Given the description of an element on the screen output the (x, y) to click on. 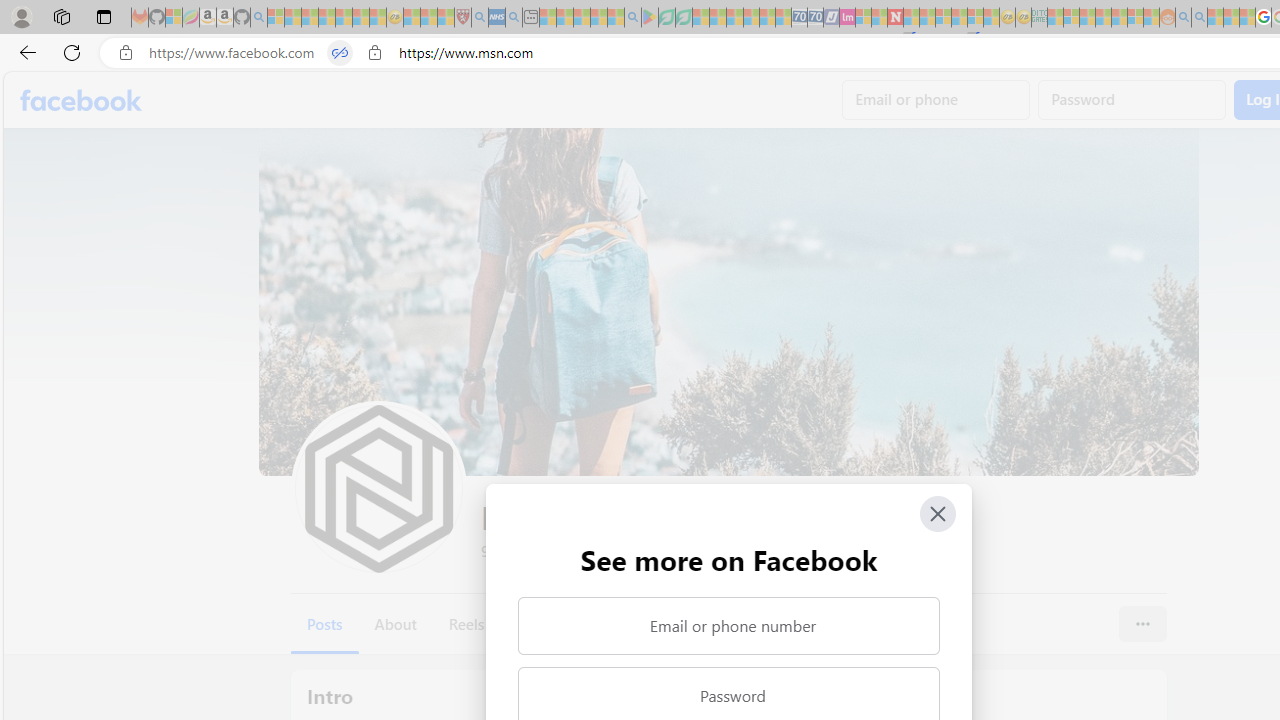
New Report Confirms 2023 Was Record Hot | Watch - Sleeping (343, 17)
Facebook (81, 99)
google - Search - Sleeping (632, 17)
Tabs in split screen (339, 53)
14 Common Myths Debunked By Scientific Facts - Sleeping (927, 17)
Terms of Use Agreement - Sleeping (666, 17)
Bluey: Let's Play! - Apps on Google Play - Sleeping (649, 17)
Jobs - lastminute.com Investor Portal - Sleeping (847, 17)
Close (938, 514)
New tab - Sleeping (530, 17)
